Given the description of an element on the screen output the (x, y) to click on. 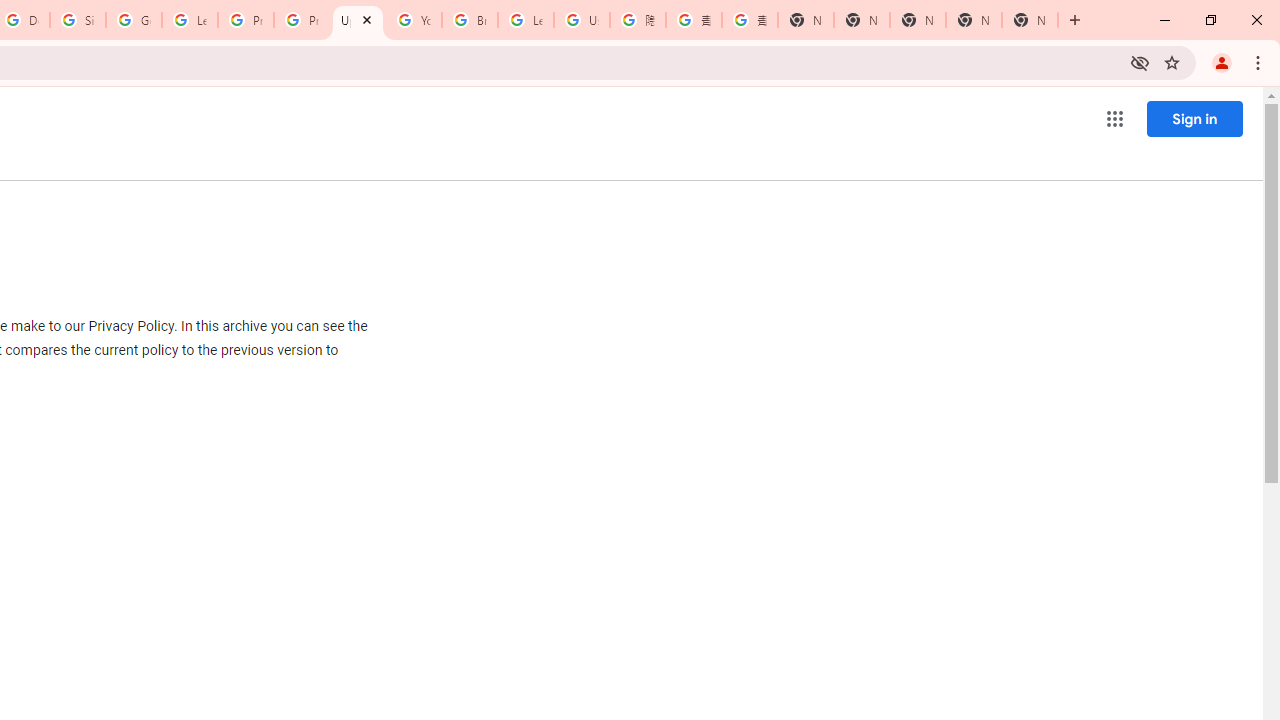
Privacy Help Center - Policies Help (245, 20)
Privacy Help Center - Policies Help (301, 20)
